Given the description of an element on the screen output the (x, y) to click on. 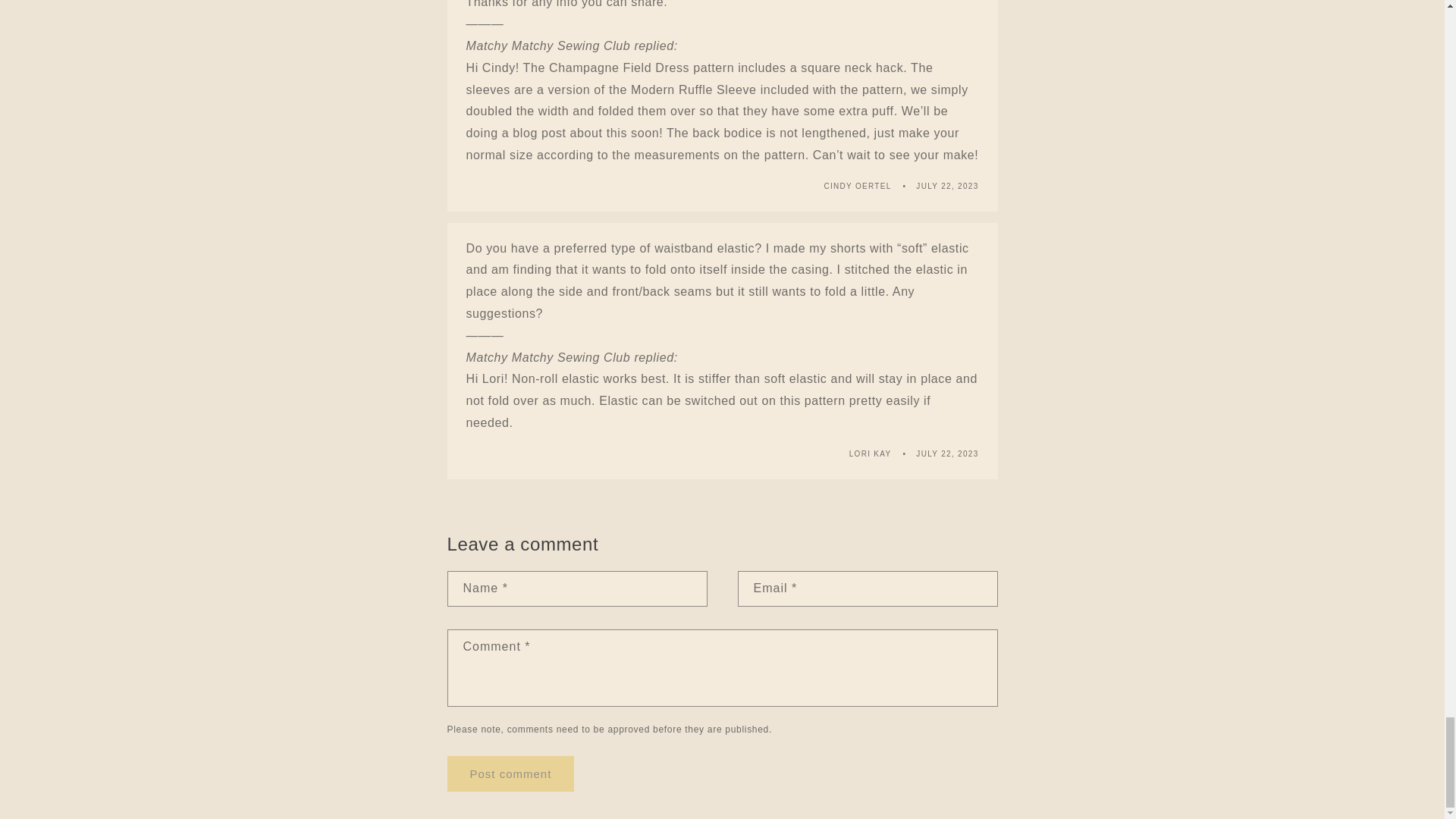
Post comment (510, 773)
